Given the description of an element on the screen output the (x, y) to click on. 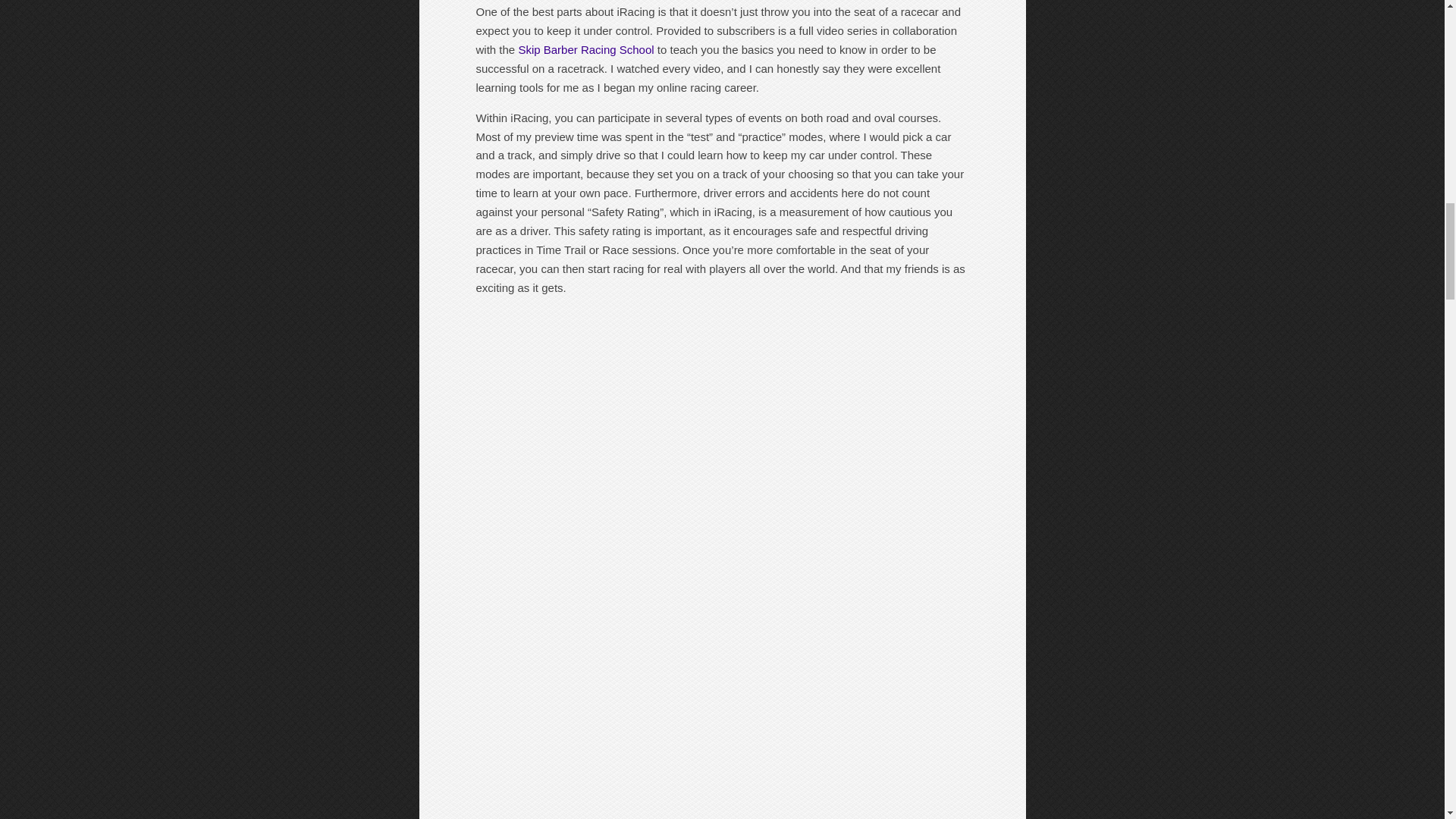
Skip Barber Racing School (585, 49)
